Given the description of an element on the screen output the (x, y) to click on. 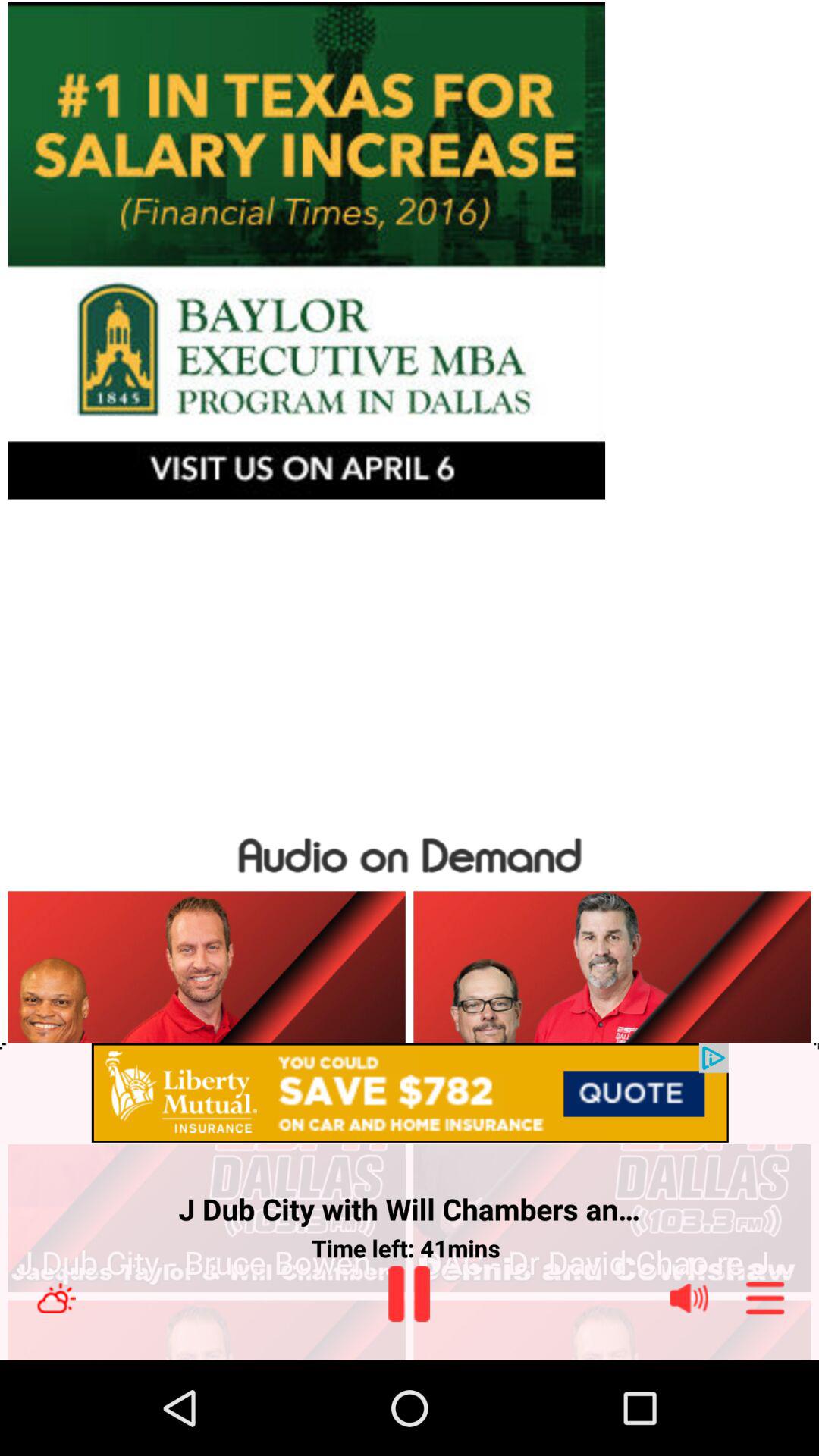
advertisement (409, 250)
